Given the description of an element on the screen output the (x, y) to click on. 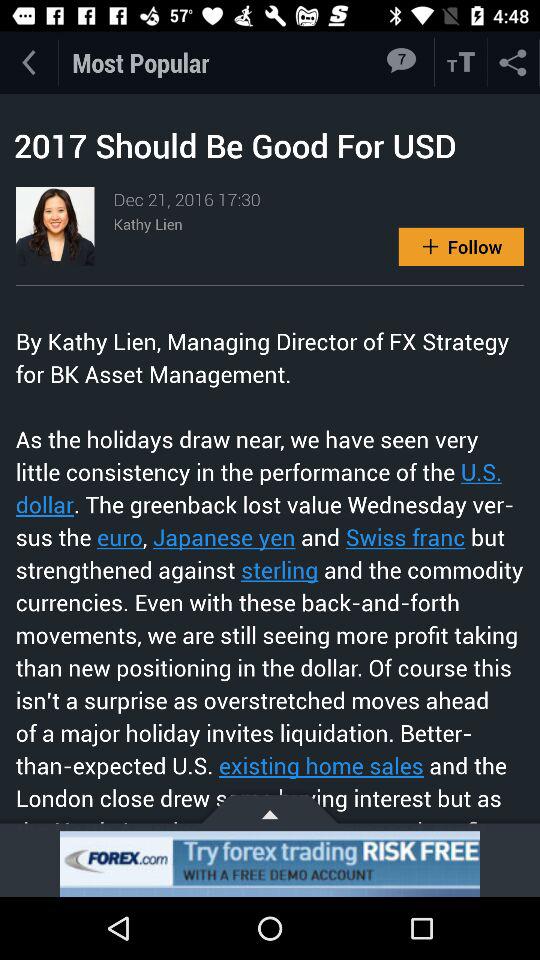
change text size (461, 62)
